Given the description of an element on the screen output the (x, y) to click on. 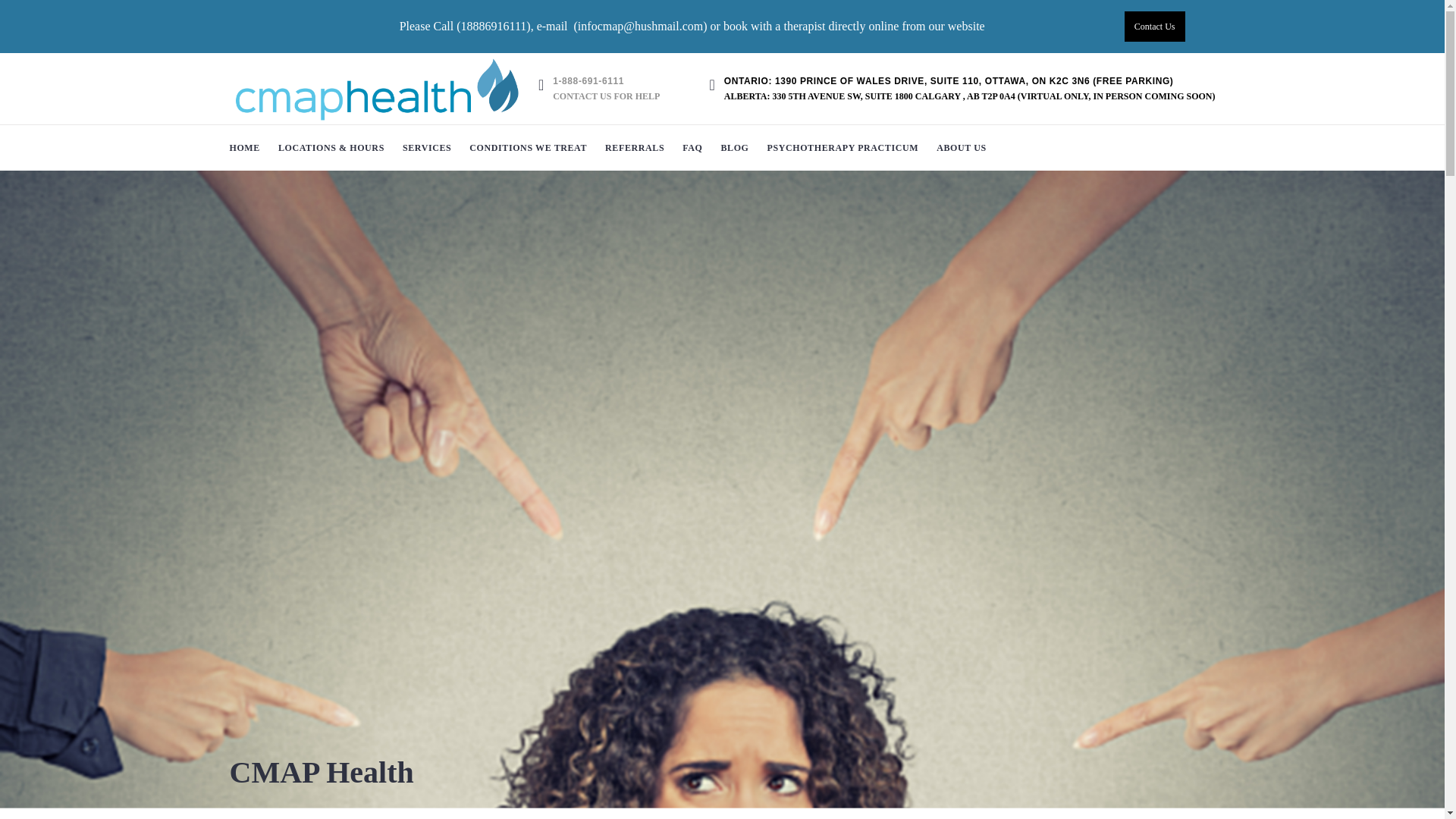
e-mail (552, 25)
CONDITIONS WE TREAT (527, 147)
Contact Us (1154, 26)
Call (443, 25)
REFERRALS (633, 147)
HOME (243, 147)
1-888-691-6111 (606, 81)
SERVICES (426, 147)
